Given the description of an element on the screen output the (x, y) to click on. 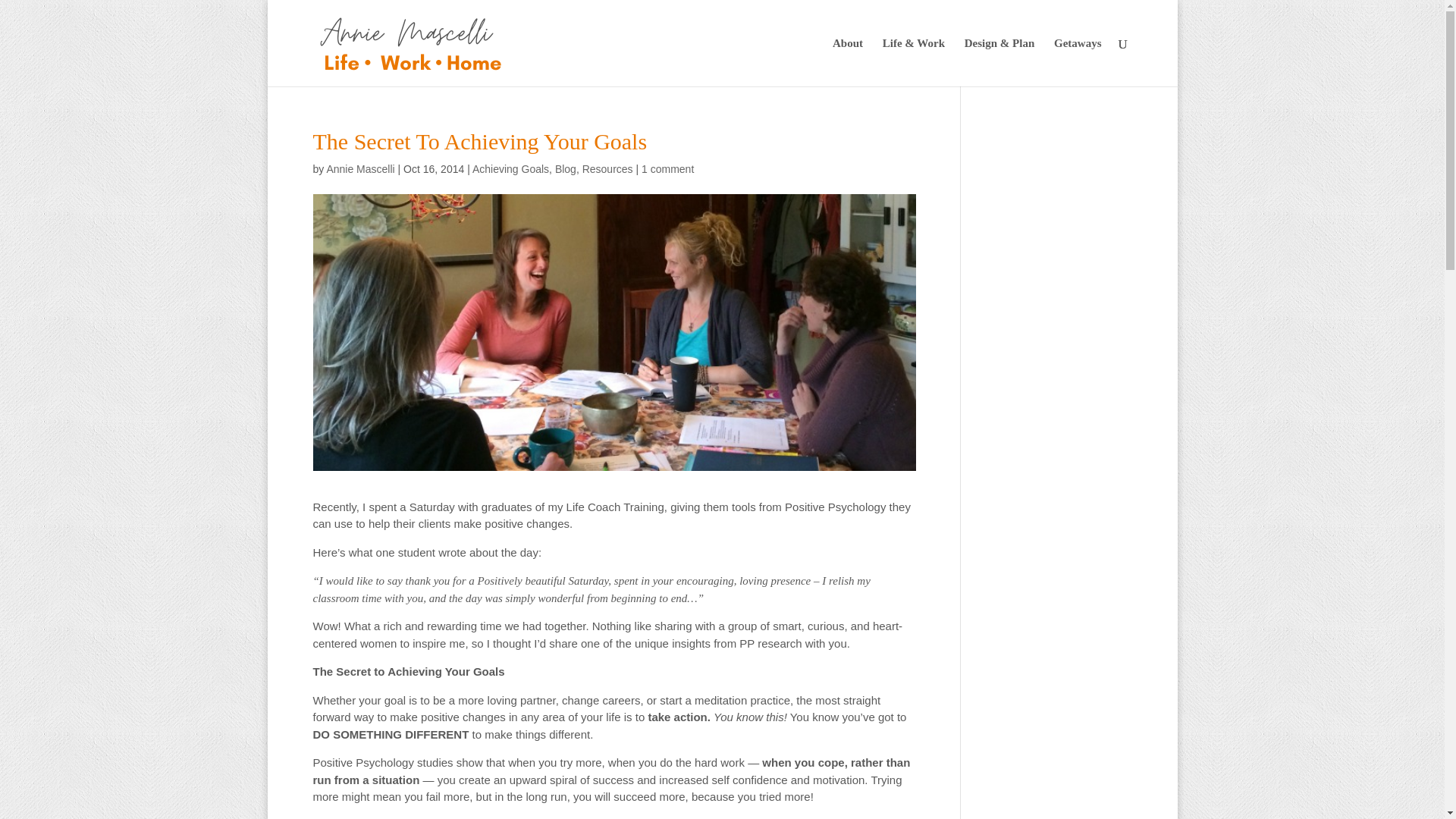
Blog (565, 168)
Resources (607, 168)
Getaways (1078, 61)
Achieving Goals (509, 168)
Posts by Annie Mascelli (360, 168)
Annie Mascelli (360, 168)
1 comment (668, 168)
